Given the description of an element on the screen output the (x, y) to click on. 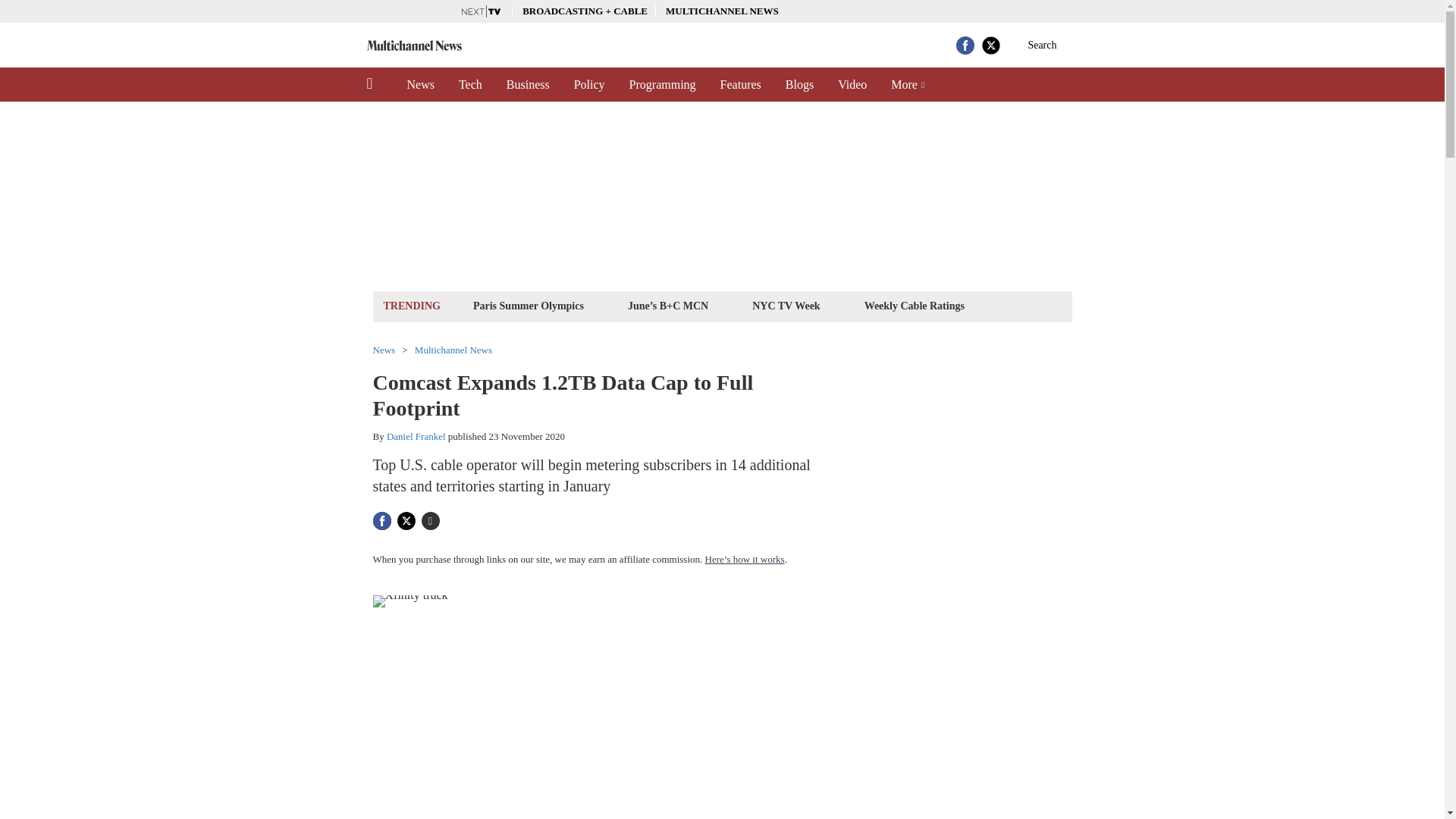
NYC TV Week (785, 305)
News (419, 84)
Features (740, 84)
Policy (589, 84)
MULTICHANNEL NEWS (721, 10)
Weekly Cable Ratings (914, 305)
Daniel Frankel (416, 436)
Blogs (799, 84)
Business (528, 84)
Multichannel News (453, 349)
Tech (470, 84)
Programming (662, 84)
Paris Summer Olympics (528, 305)
Video (852, 84)
